Given the description of an element on the screen output the (x, y) to click on. 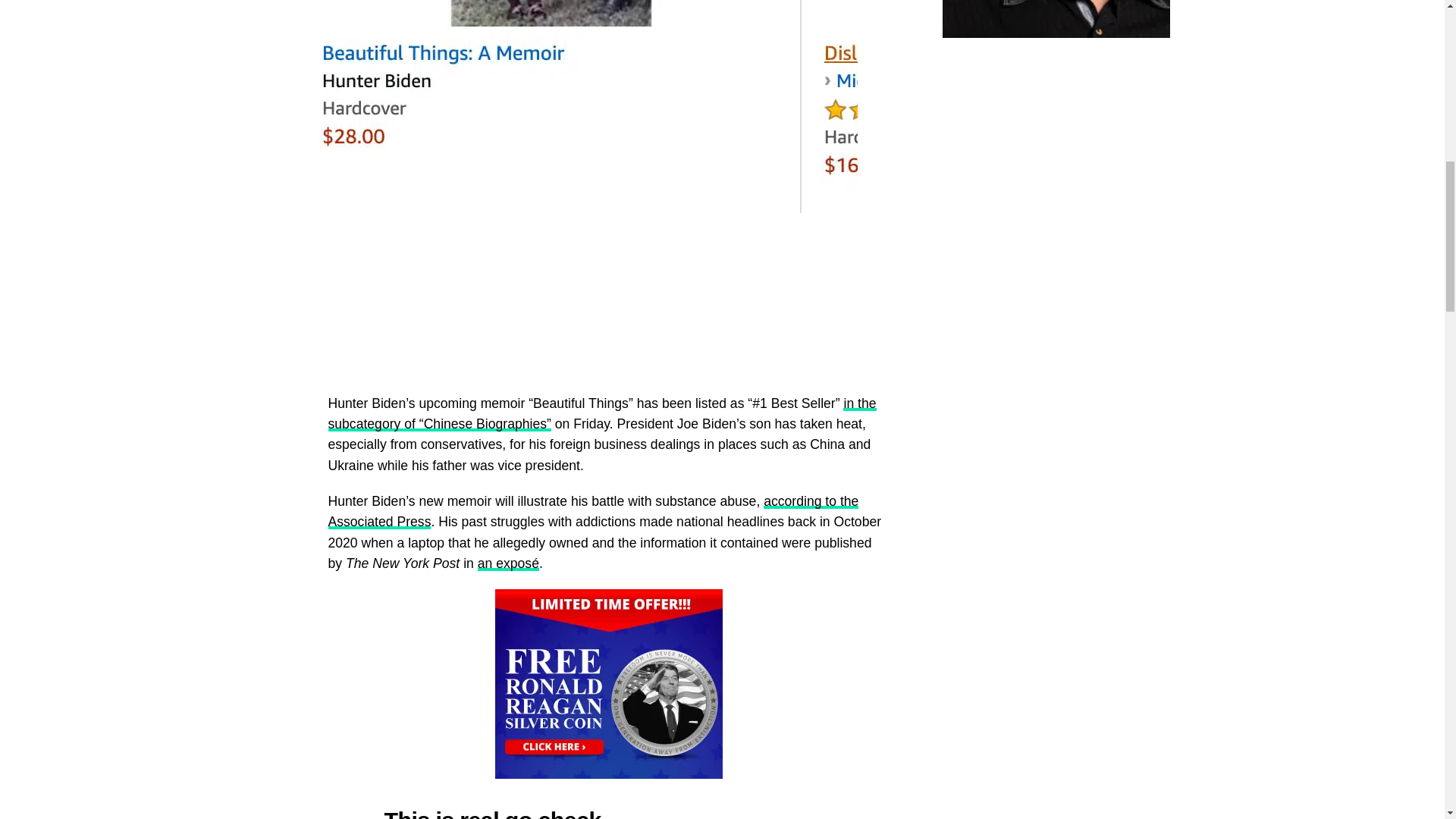
according to the Associated Press (593, 511)
